Given the description of an element on the screen output the (x, y) to click on. 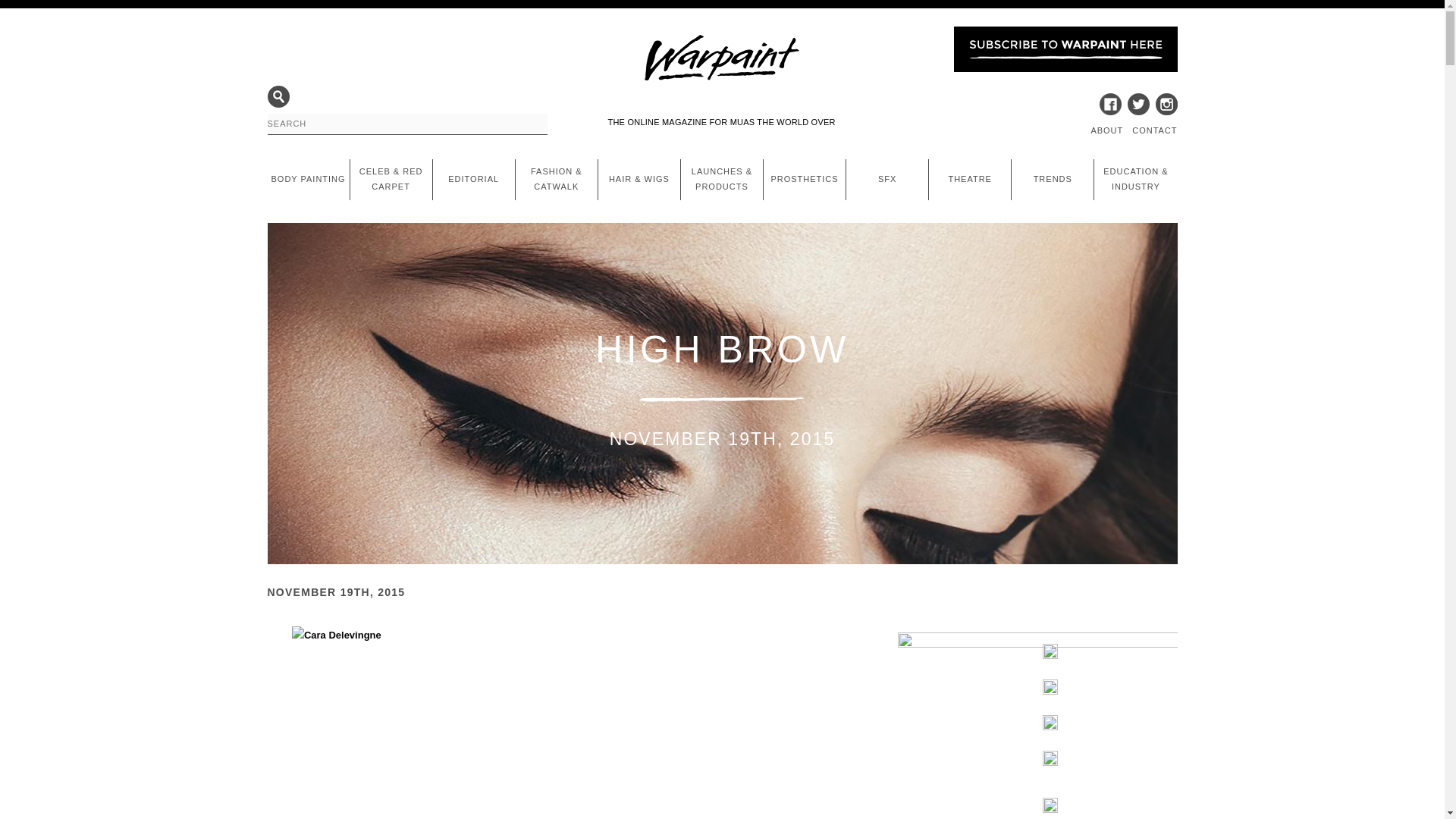
PROSTHETICS (804, 178)
TRENDS (1052, 178)
THEATRE (969, 178)
SFX (886, 178)
CONTACT (1154, 130)
BODY PAINTING (308, 178)
EDITORIAL (473, 178)
ABOUT (1106, 130)
